Given the description of an element on the screen output the (x, y) to click on. 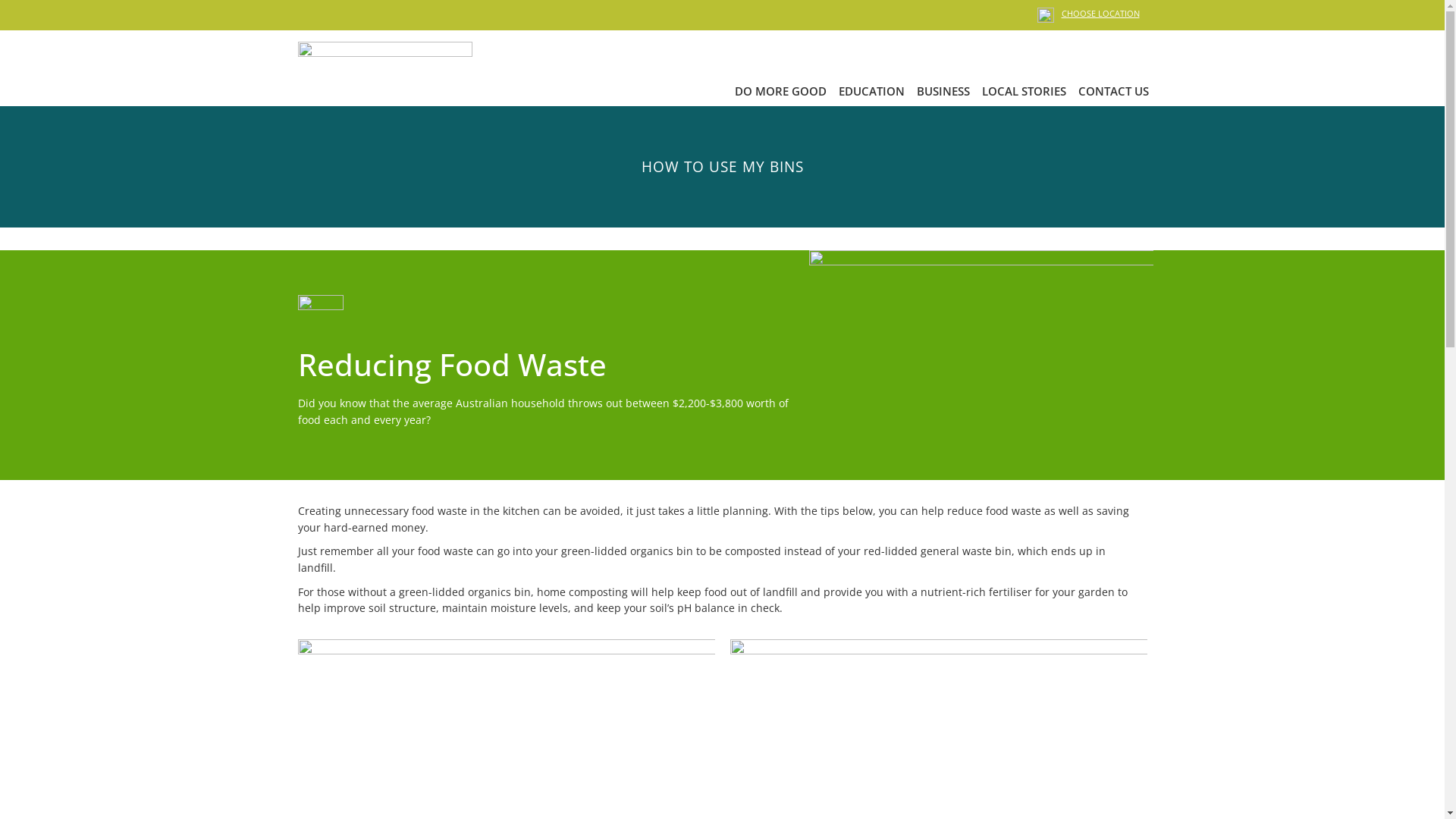
EDUCATION Element type: text (871, 90)
CONTACT US Element type: text (1113, 90)
DO MORE GOOD Element type: text (779, 90)
BUSINESS Element type: text (942, 90)
CHOOSE LOCATION Element type: text (1100, 12)
LOCAL STORIES Element type: text (1023, 90)
